Given the description of an element on the screen output the (x, y) to click on. 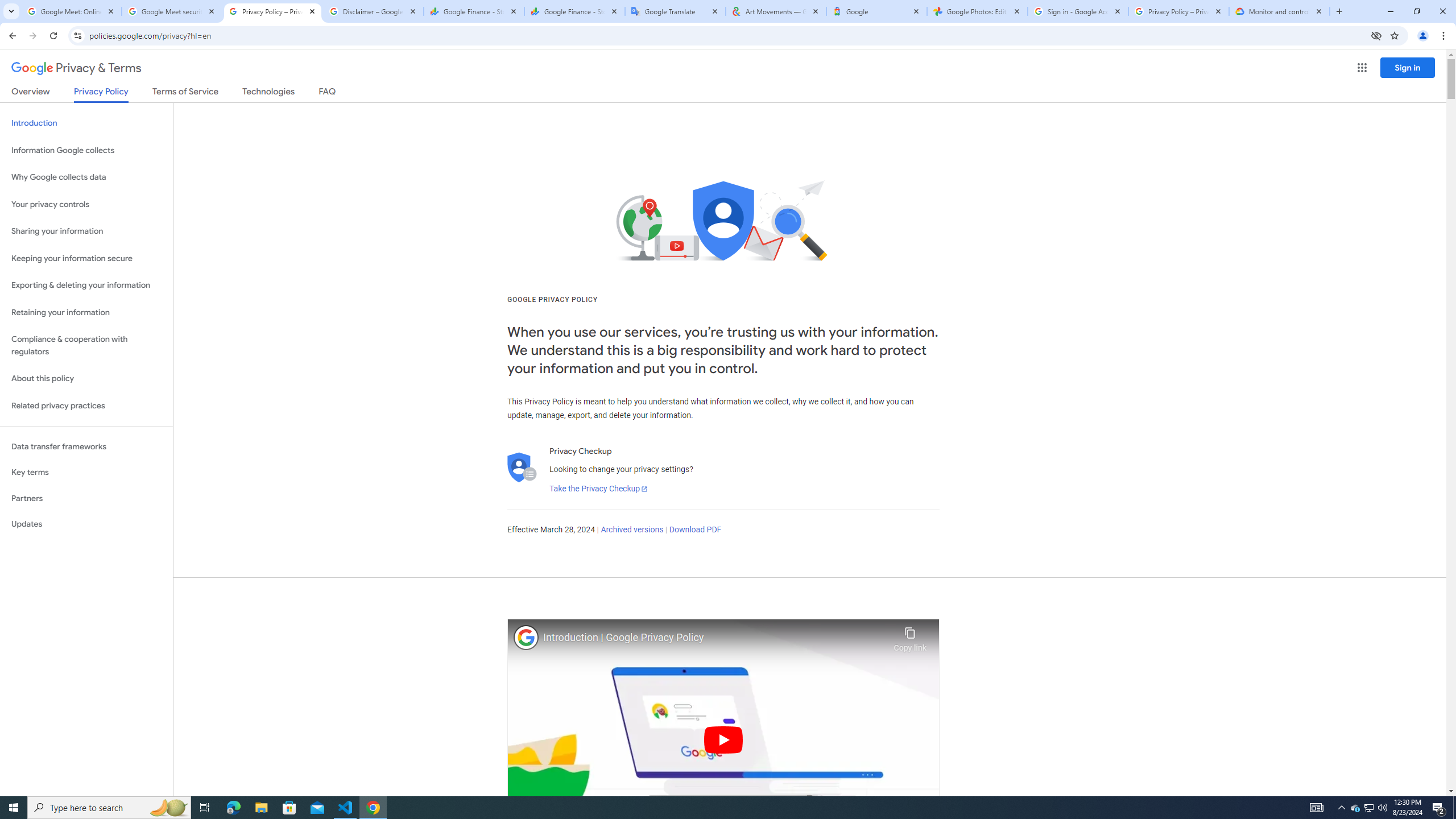
Photo image of Google (526, 636)
Related privacy practices (86, 405)
